Given the description of an element on the screen output the (x, y) to click on. 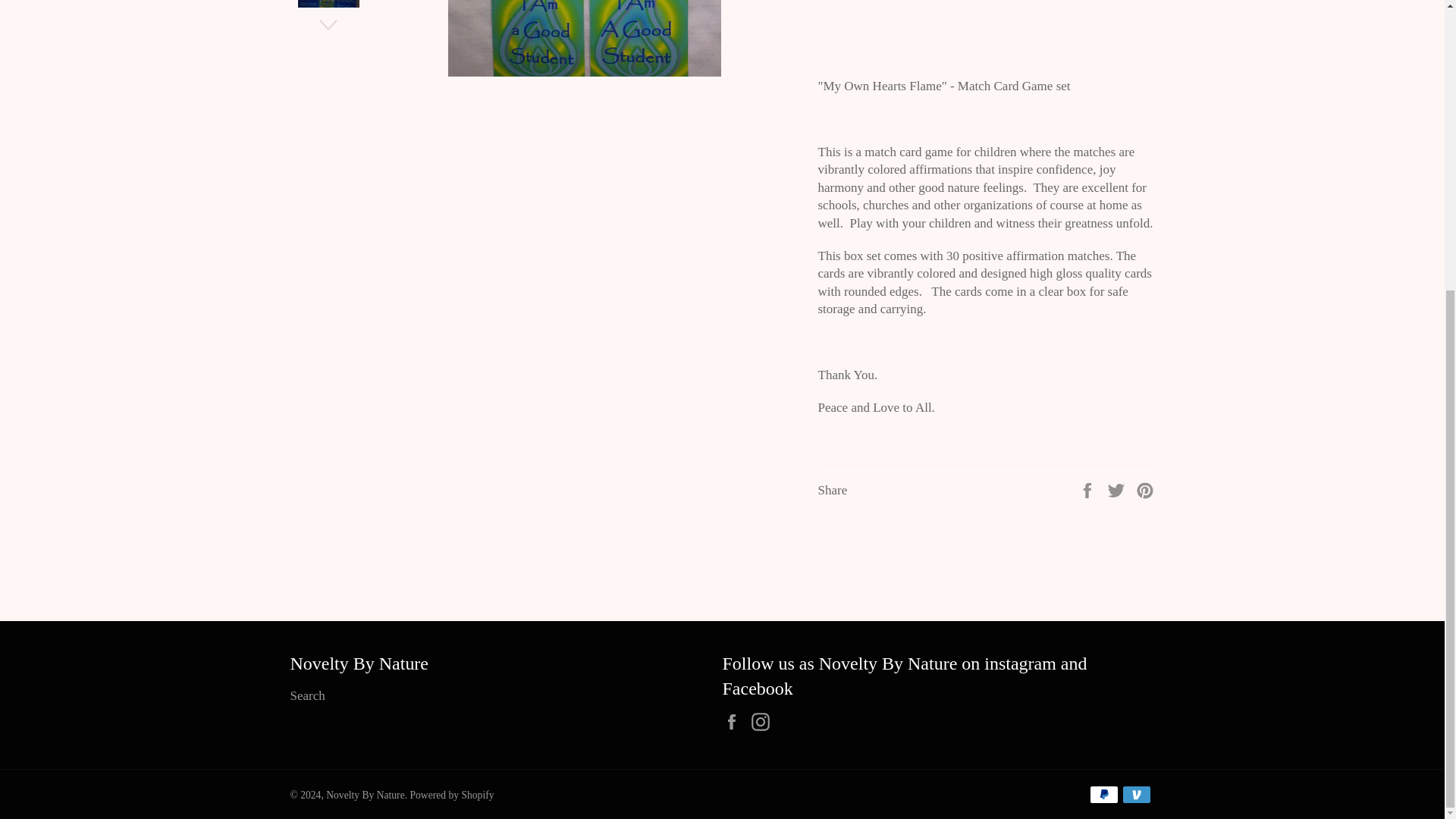
Share on Facebook (1088, 489)
Tweet on Twitter (1117, 489)
Pin on Pinterest (1144, 489)
Novelty By Nature on Instagram (764, 721)
Novelty By Nature on Facebook (735, 721)
Tweet on Twitter (1117, 489)
Pin on Pinterest (1144, 489)
Share on Facebook (1088, 489)
